Given the description of an element on the screen output the (x, y) to click on. 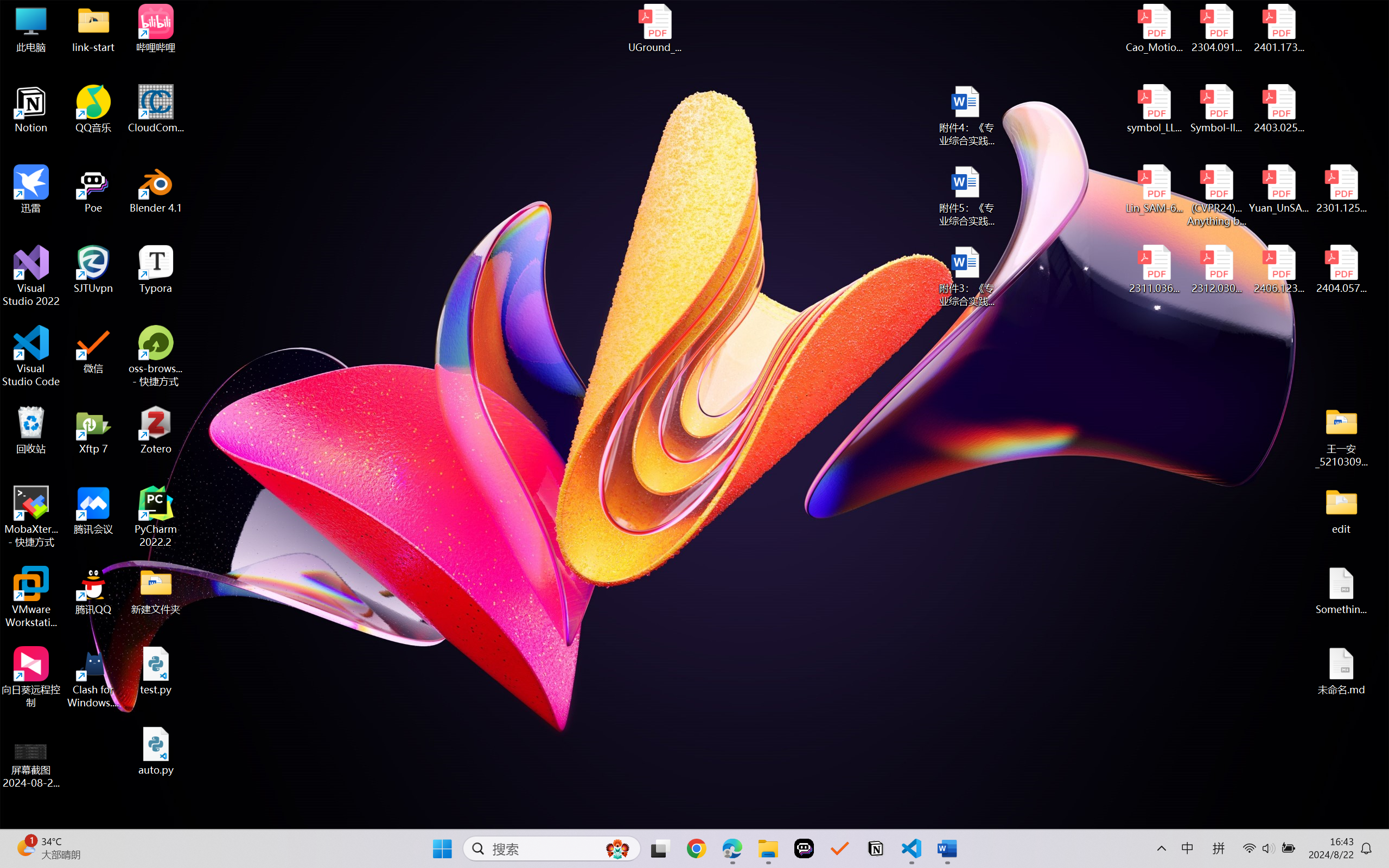
auto.py (156, 751)
Visual Studio 2022 (31, 276)
2404.05719v1.pdf (1340, 269)
2401.17399v1.pdf (1278, 28)
Typora (156, 269)
Something.md (1340, 591)
